Given the description of an element on the screen output the (x, y) to click on. 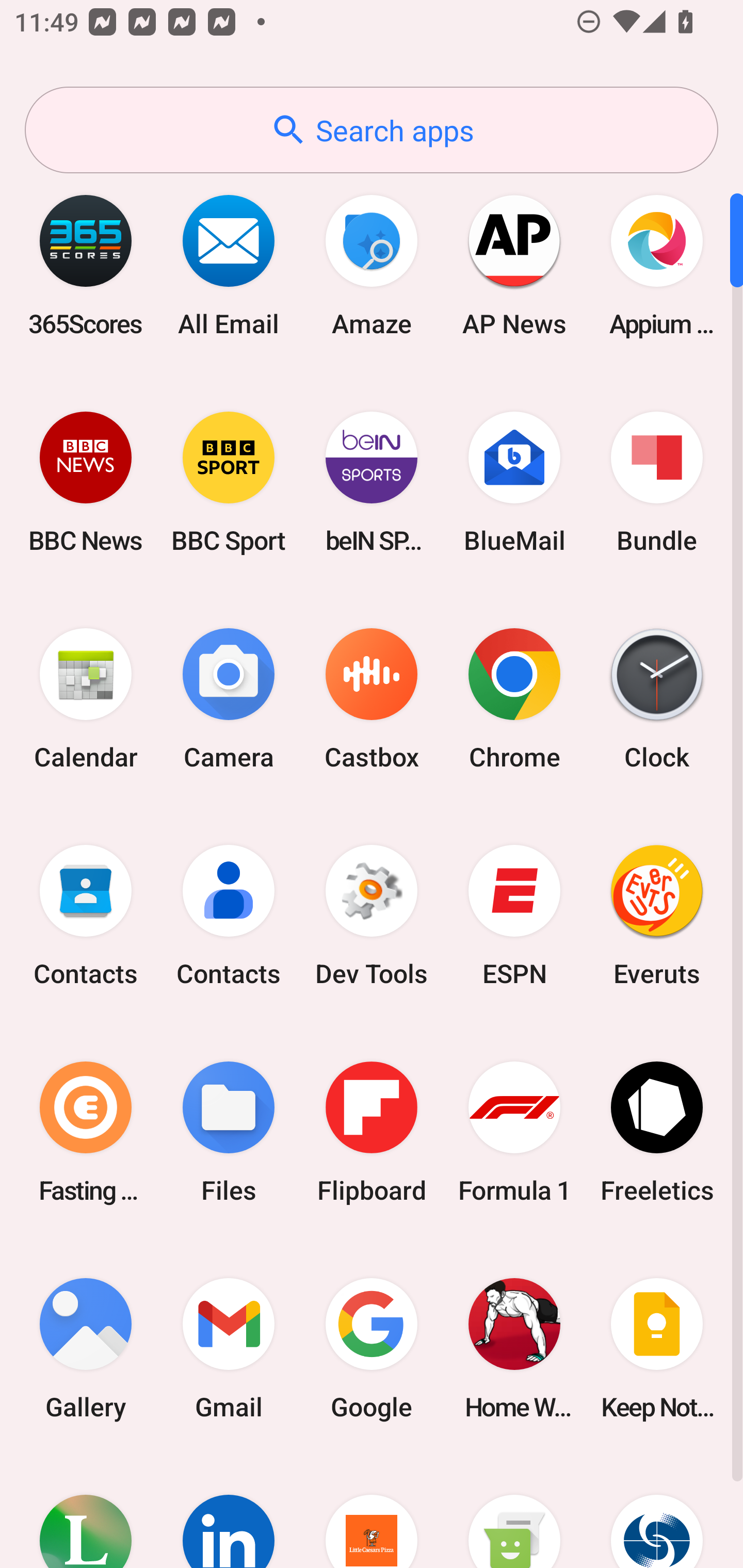
  Search apps (371, 130)
365Scores (85, 264)
All Email (228, 264)
Amaze (371, 264)
AP News (514, 264)
Appium Settings (656, 264)
BBC News (85, 482)
BBC Sport (228, 482)
beIN SPORTS (371, 482)
BlueMail (514, 482)
Bundle (656, 482)
Calendar (85, 699)
Camera (228, 699)
Castbox (371, 699)
Chrome (514, 699)
Clock (656, 699)
Contacts (85, 915)
Contacts (228, 915)
Dev Tools (371, 915)
ESPN (514, 915)
Everuts (656, 915)
Fasting Coach (85, 1131)
Files (228, 1131)
Flipboard (371, 1131)
Formula 1 (514, 1131)
Freeletics (656, 1131)
Gallery (85, 1348)
Gmail (228, 1348)
Google (371, 1348)
Home Workout (514, 1348)
Keep Notes (656, 1348)
